Given the description of an element on the screen output the (x, y) to click on. 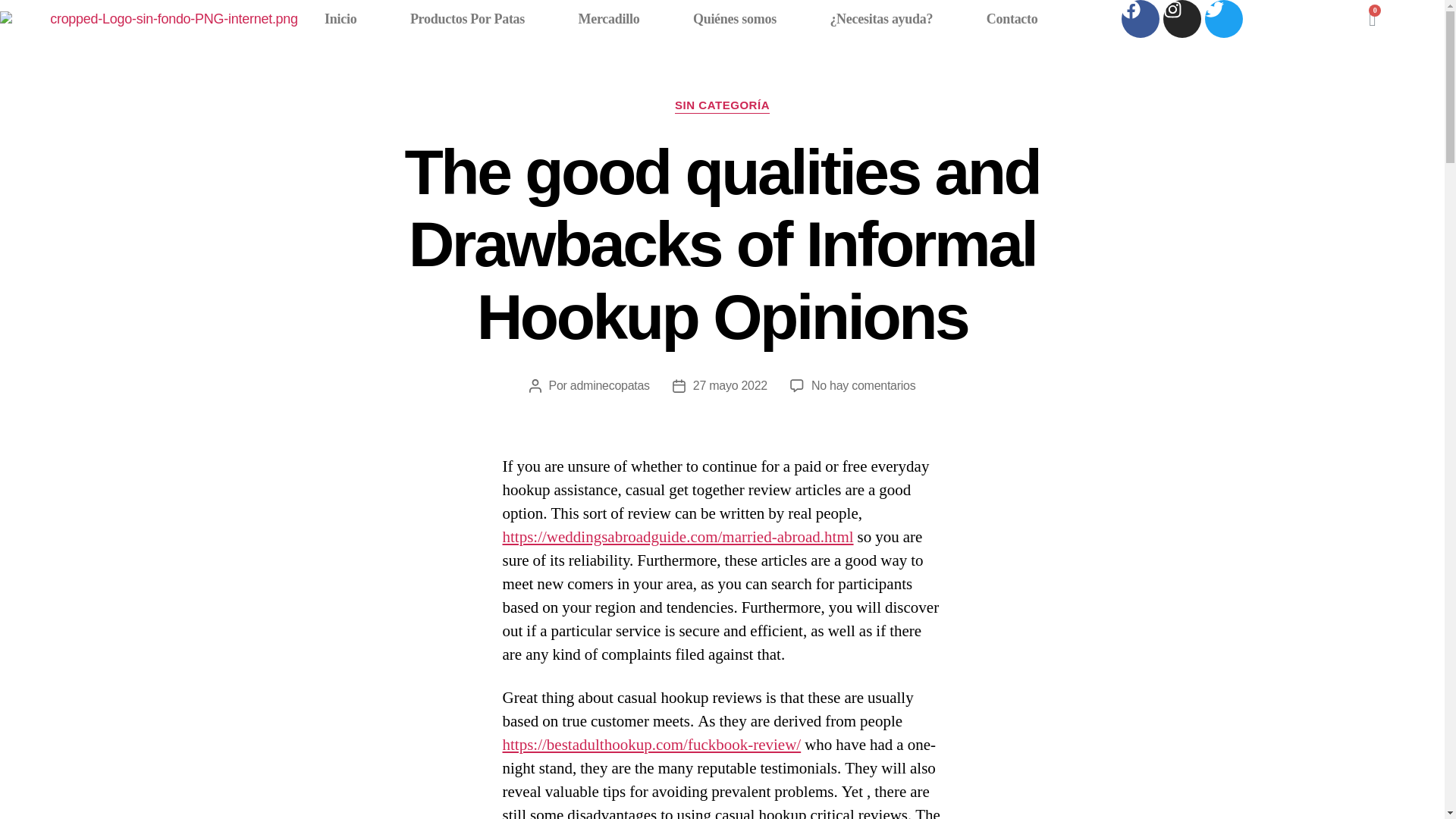
Mercadillo (608, 18)
27 mayo 2022 (730, 385)
Contacto (1011, 18)
No hay comentarios (862, 385)
adminecopatas (609, 385)
cropped-Logo-sin-fondo-PNG-internet.png (149, 18)
Inicio (341, 18)
Productos Por Patas (467, 18)
